Given the description of an element on the screen output the (x, y) to click on. 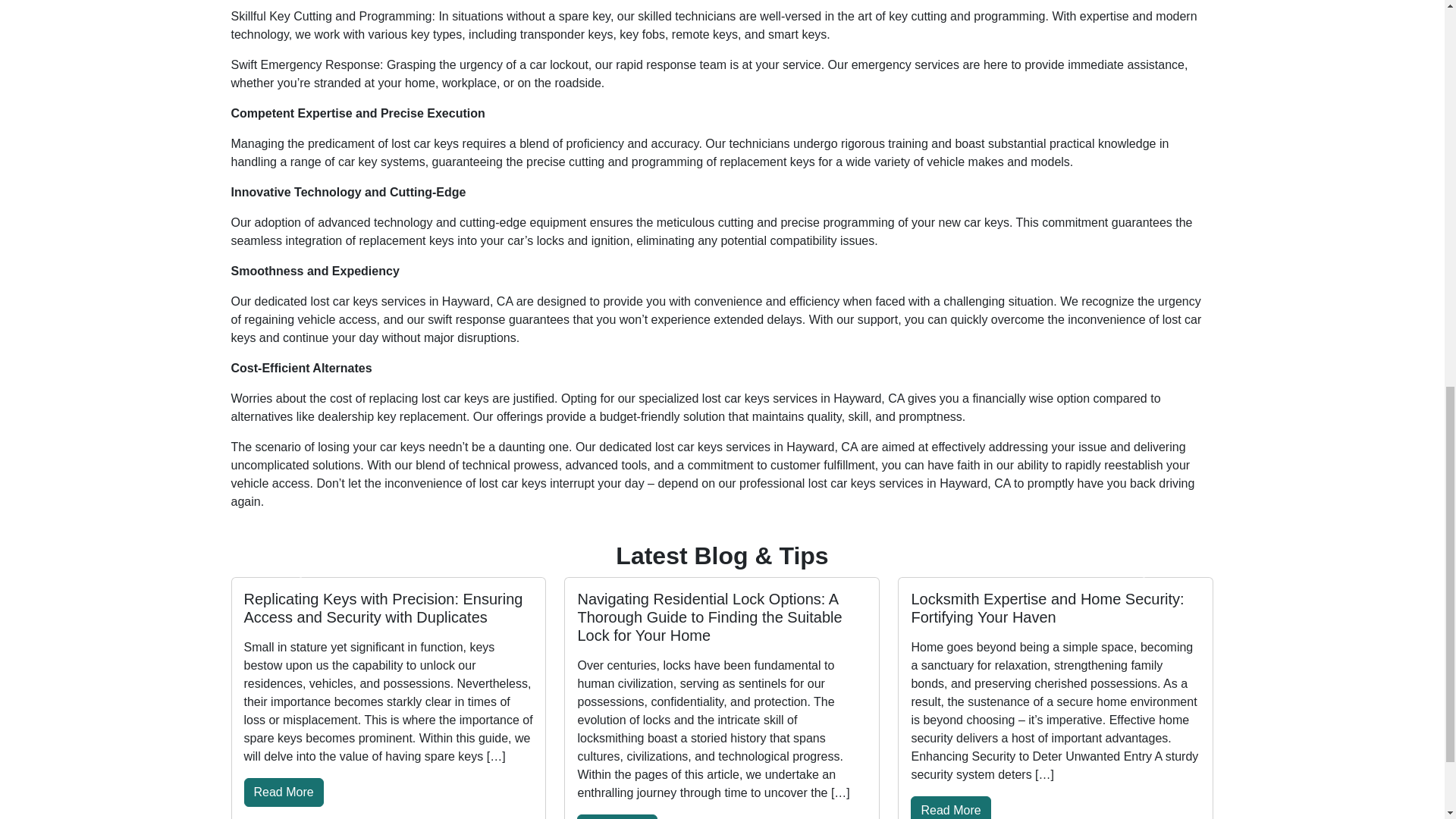
Read More (950, 807)
Read More (616, 816)
Read More (283, 792)
